Given the description of an element on the screen output the (x, y) to click on. 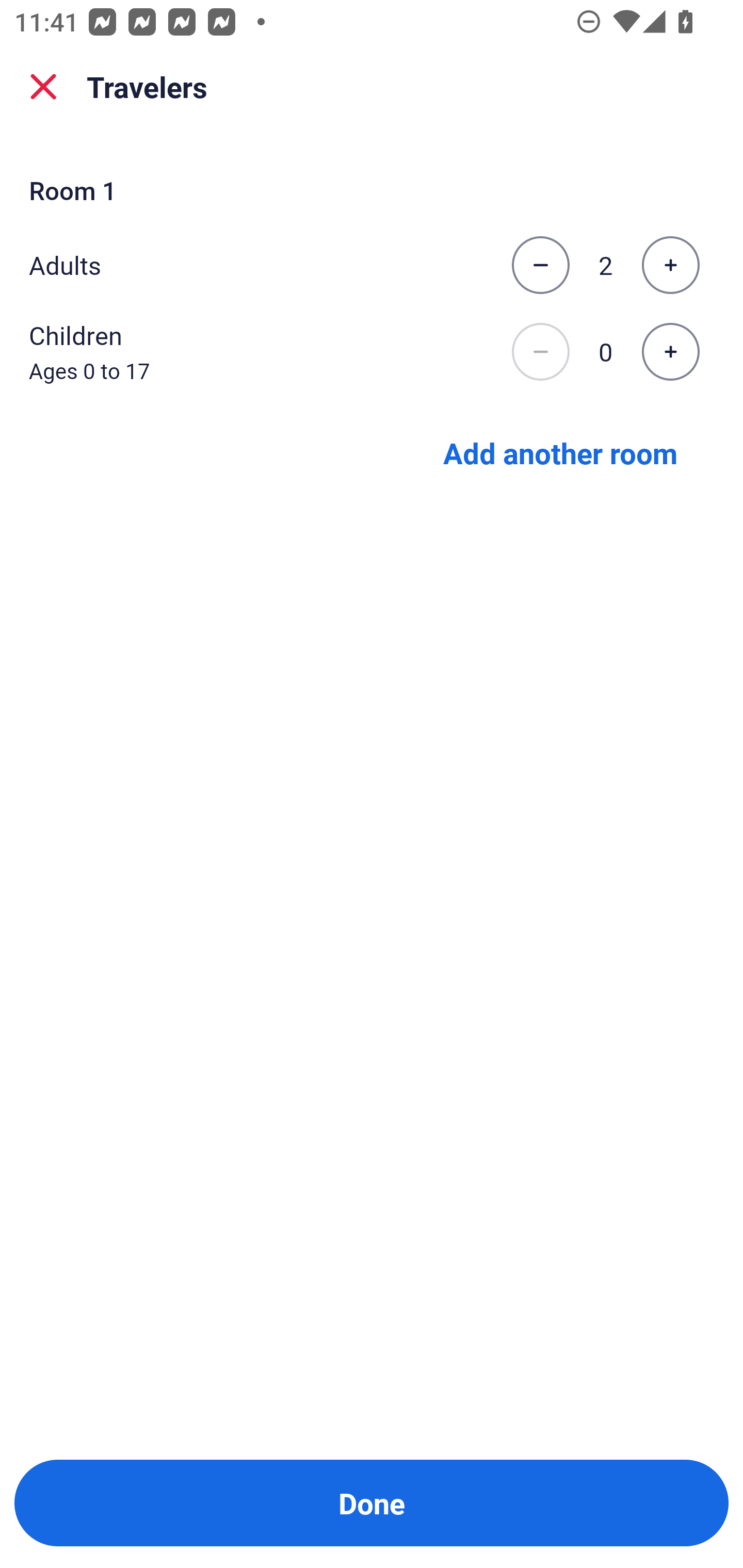
close (43, 86)
Decrease the number of adults (540, 264)
Increase the number of adults (670, 264)
Decrease the number of children (540, 351)
Increase the number of children (670, 351)
Add another room (560, 452)
Done (371, 1502)
